Given the description of an element on the screen output the (x, y) to click on. 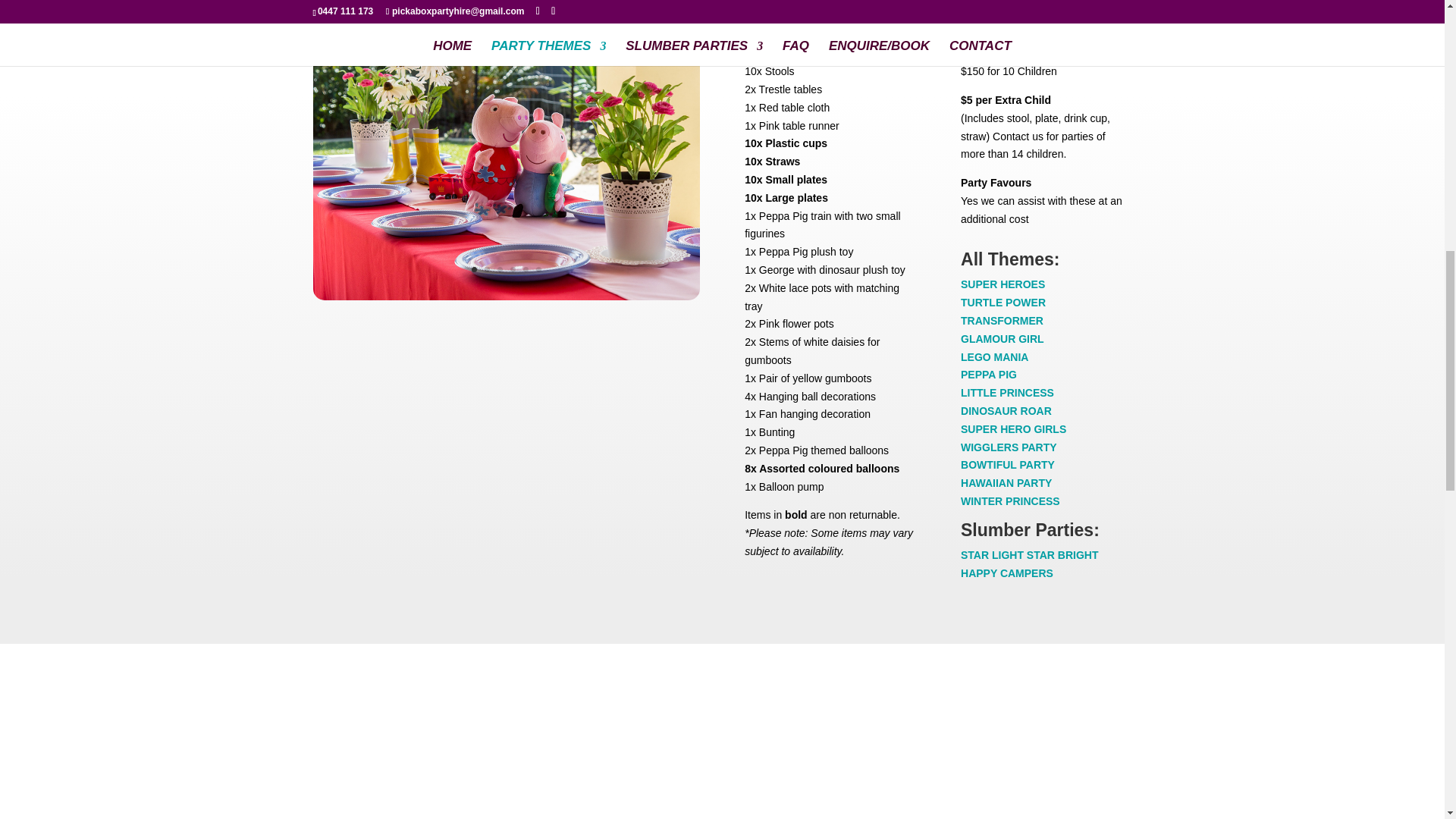
SUPER HEROES (1002, 284)
LEGO MANIA (993, 357)
PEPPA PIG (988, 374)
TRANSFORMER (1001, 329)
LITTLE PRINCESS (1007, 392)
TURTLE POWER (1002, 302)
Pickabox Party Hire - Peppa Pig 02 (505, 296)
GLAMOUR GIRL (1001, 338)
